Given the description of an element on the screen output the (x, y) to click on. 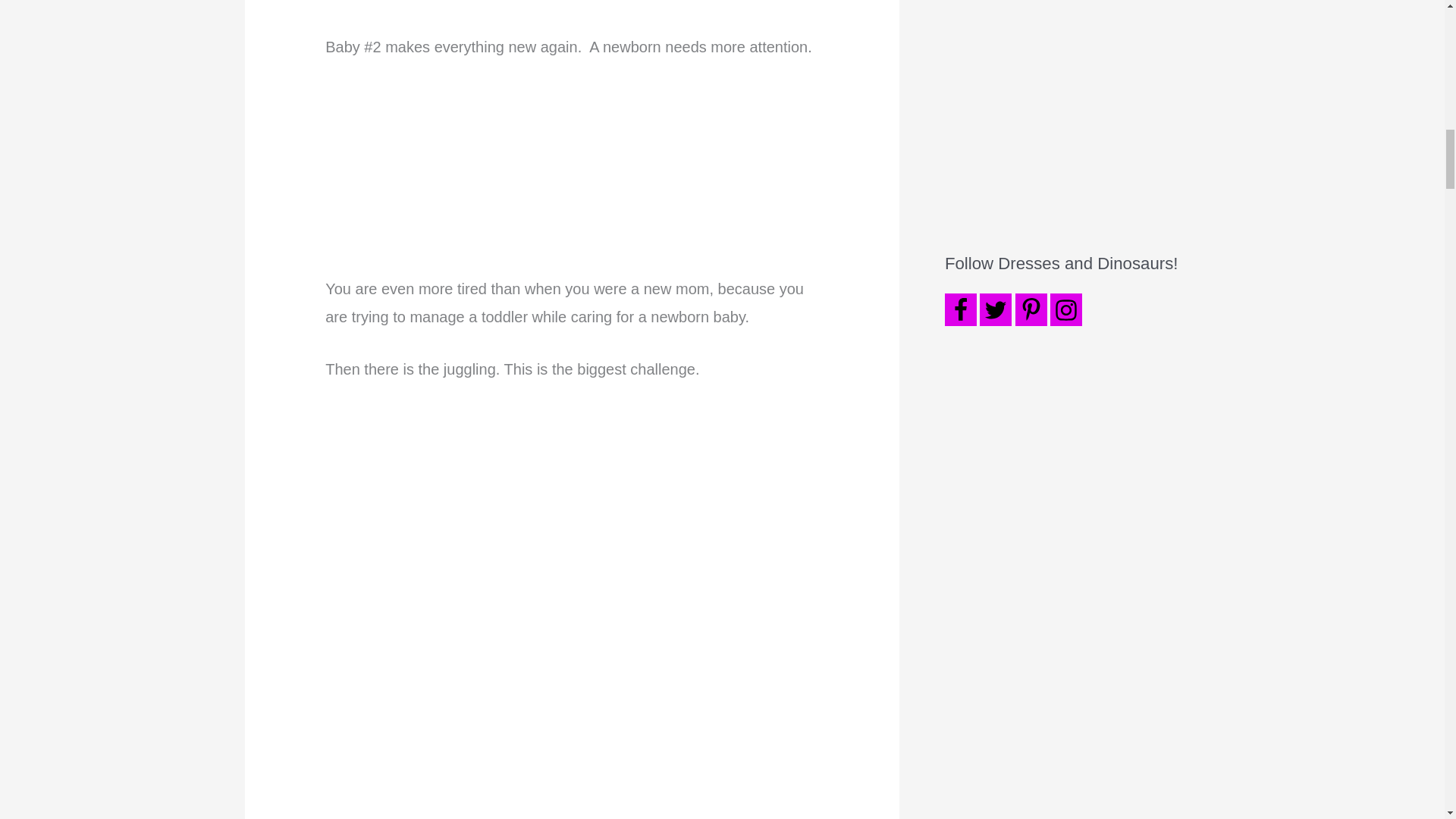
Twitter (995, 309)
Pinterest (1030, 309)
Instagram (1065, 309)
Facebook (960, 309)
